Given the description of an element on the screen output the (x, y) to click on. 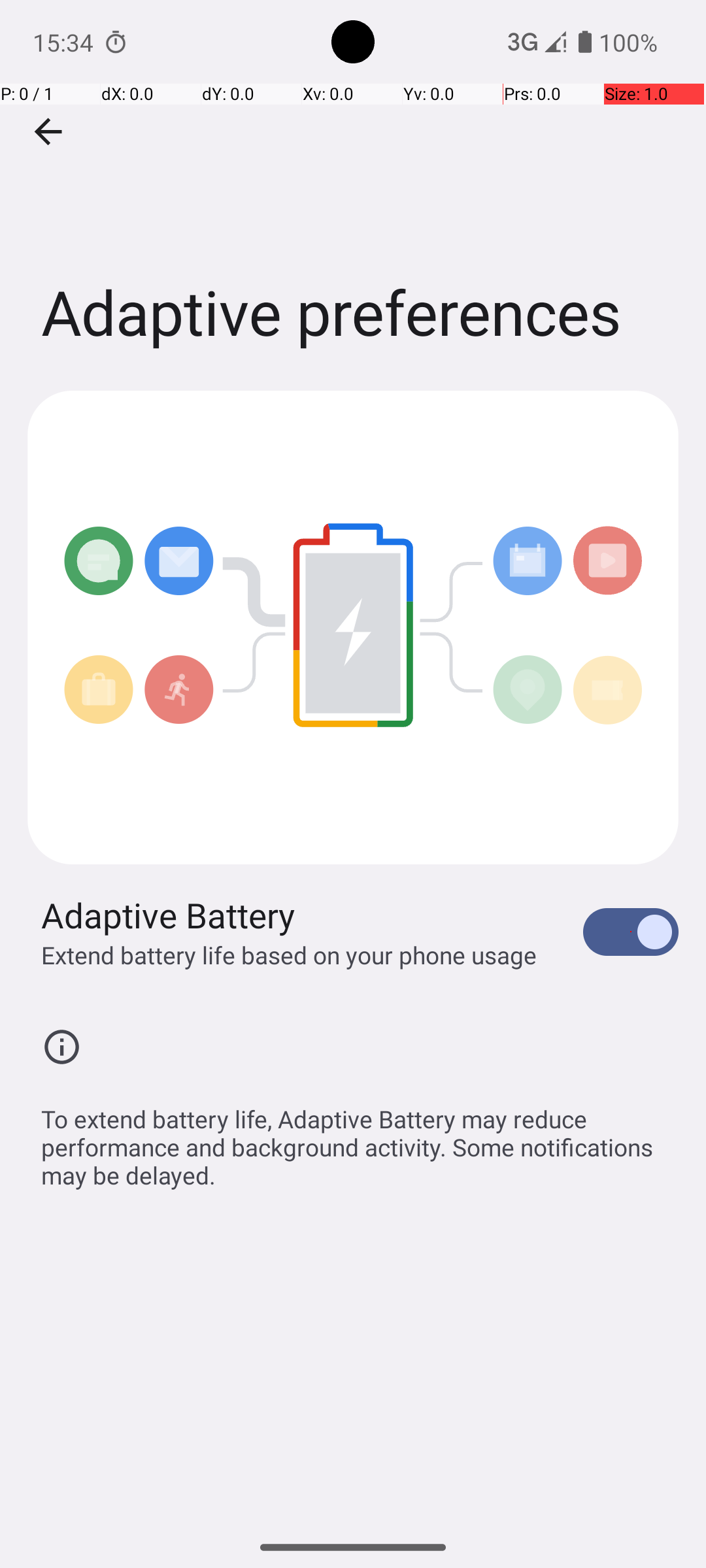
Adaptive Battery Element type: android.widget.TextView (168, 914)
Extend battery life based on your phone usage Element type: android.widget.TextView (288, 954)
To extend battery life, Adaptive Battery may reduce performance and background activity. Some notifications may be delayed. Element type: android.widget.TextView (359, 1139)
